Given the description of an element on the screen output the (x, y) to click on. 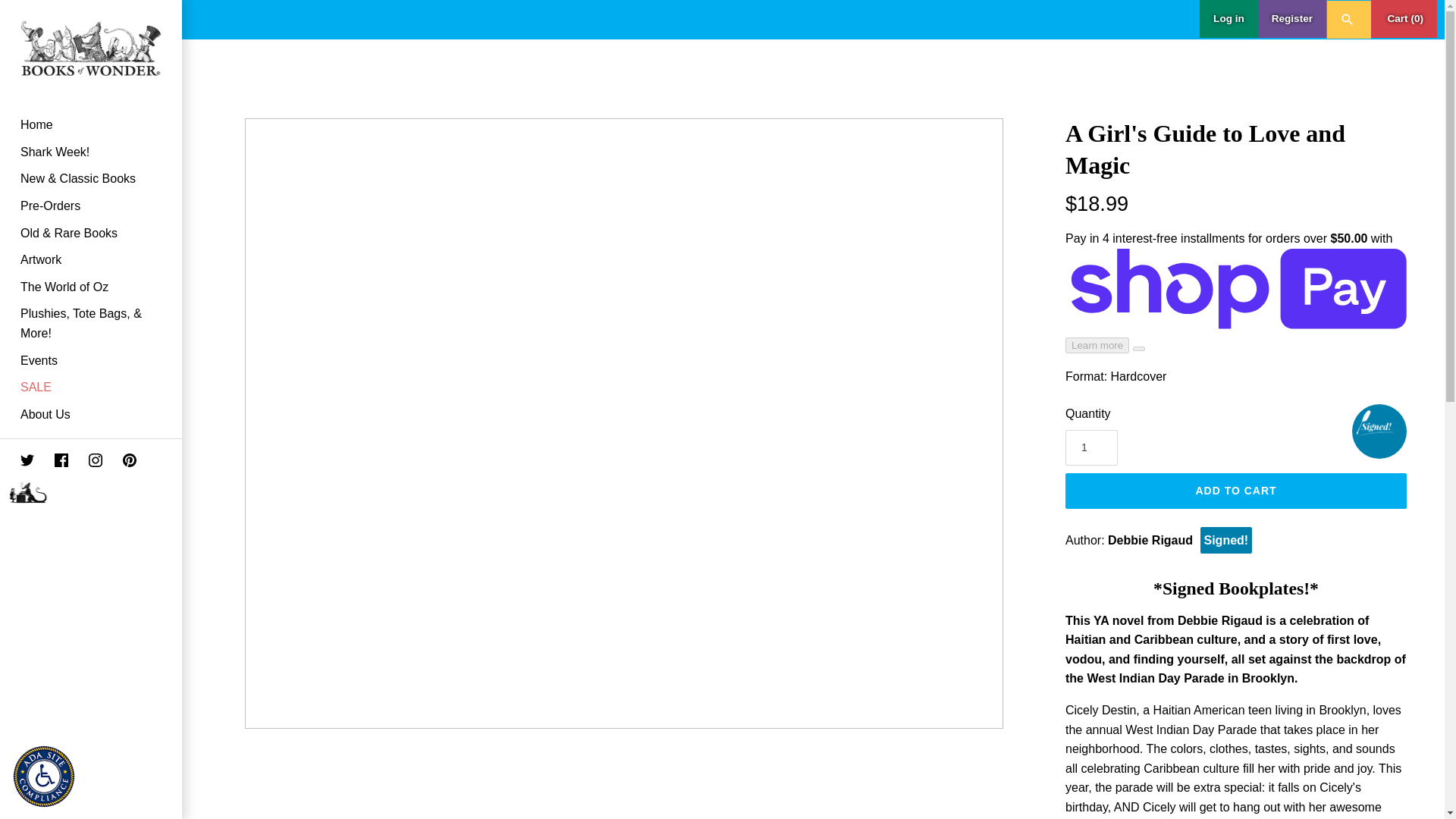
Accessibility Menu (47, 780)
Facebook (61, 459)
1 (1091, 447)
Facebook (50, 462)
Instagram (94, 459)
Home (91, 124)
Register (1291, 18)
Log in (1228, 18)
Twitter (16, 462)
Pinterest (118, 462)
Instagram (84, 462)
Books of Wonder (91, 48)
Pinterest (129, 459)
Shark Week! (91, 152)
Twitter (26, 459)
